Given the description of an element on the screen output the (x, y) to click on. 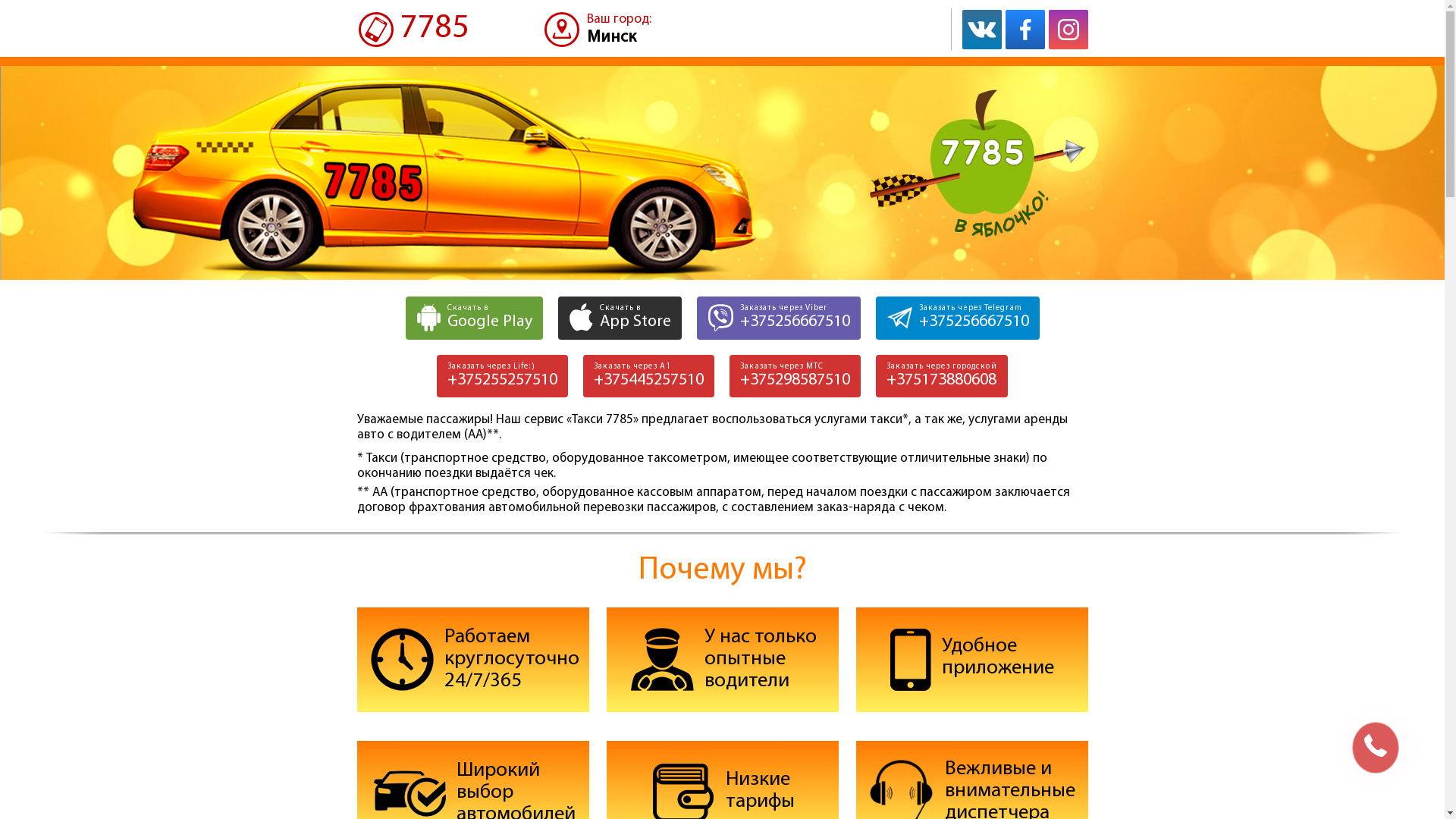
Instagram Element type: hover (1067, 29)
7785 Element type: text (412, 29)
Facebook Element type: hover (1024, 29)
